Given the description of an element on the screen output the (x, y) to click on. 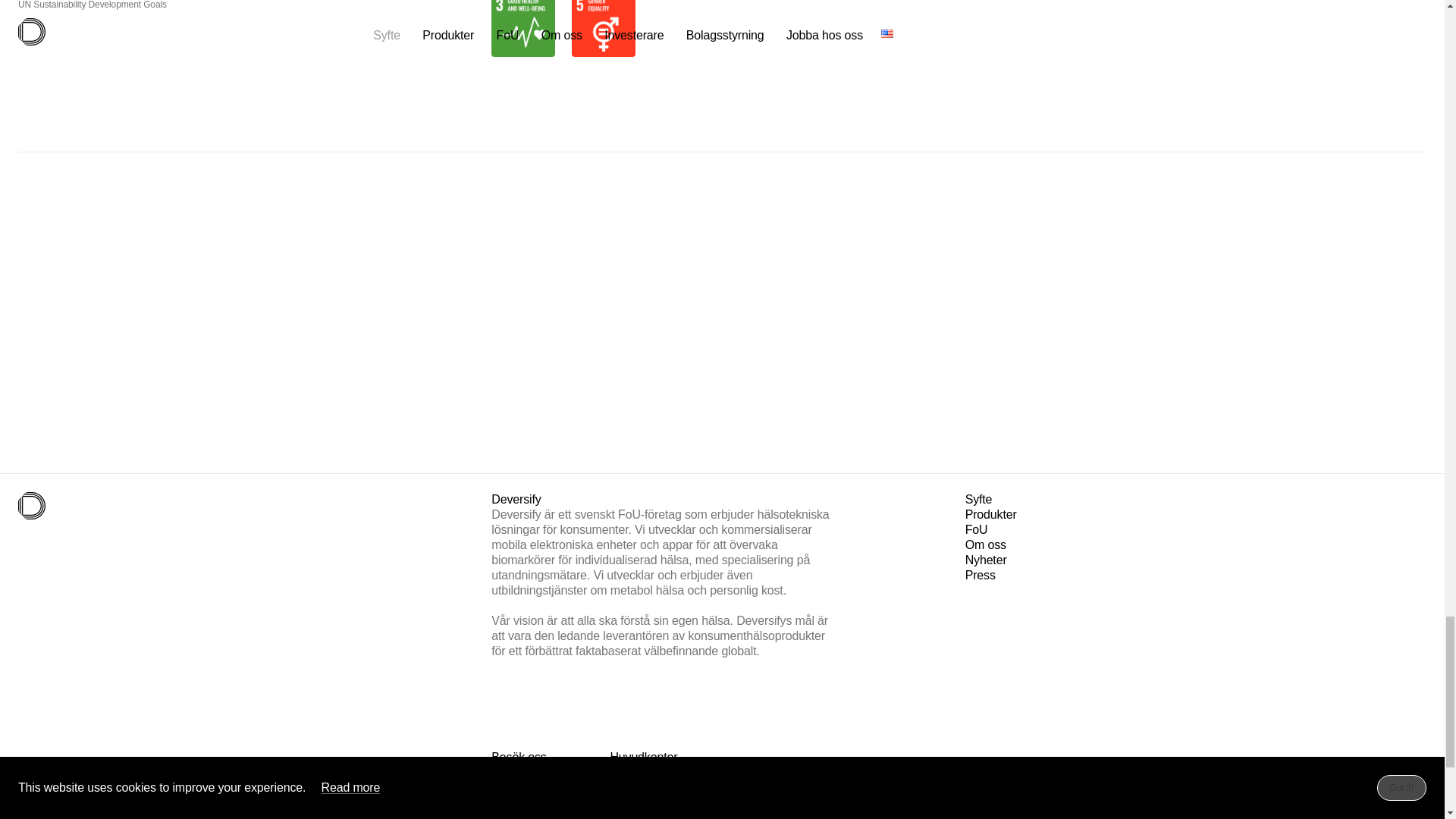
Produkter (990, 513)
Om oss (985, 544)
Syfte (978, 499)
FoU (976, 529)
Press (980, 574)
Nyheter (986, 559)
